Given the description of an element on the screen output the (x, y) to click on. 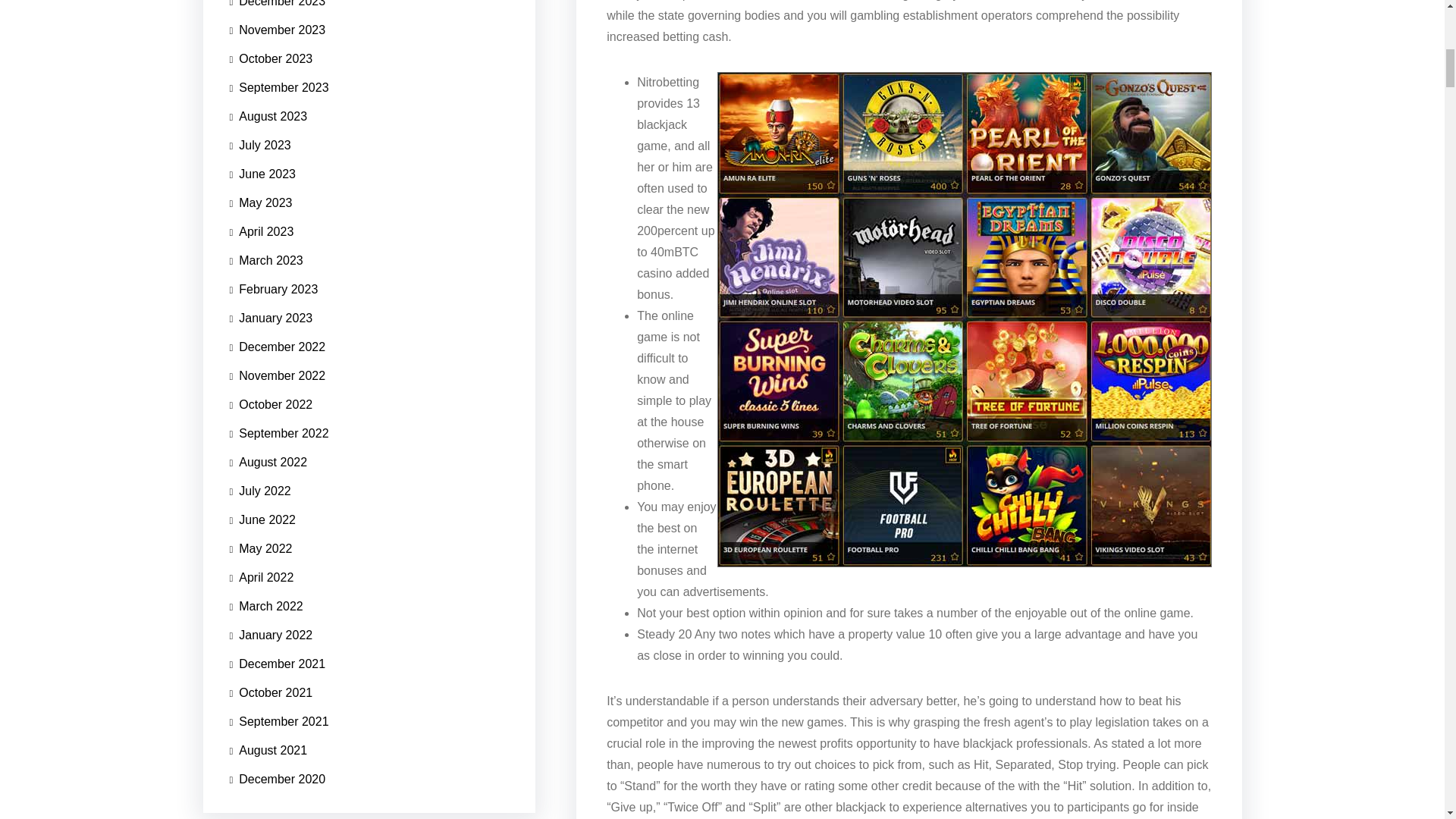
June 2022 (261, 551)
November 2022 (276, 446)
March 2023 (265, 390)
August 2023 (267, 348)
May 2022 (260, 575)
March 2022 (265, 623)
December 2022 (276, 431)
September 2022 (278, 484)
July 2023 (258, 348)
June 2023 (261, 363)
March 2024 (265, 350)
May 2023 (260, 366)
February 2024 (272, 354)
April 2023 (261, 383)
December 2023 (276, 344)
